Given the description of an element on the screen output the (x, y) to click on. 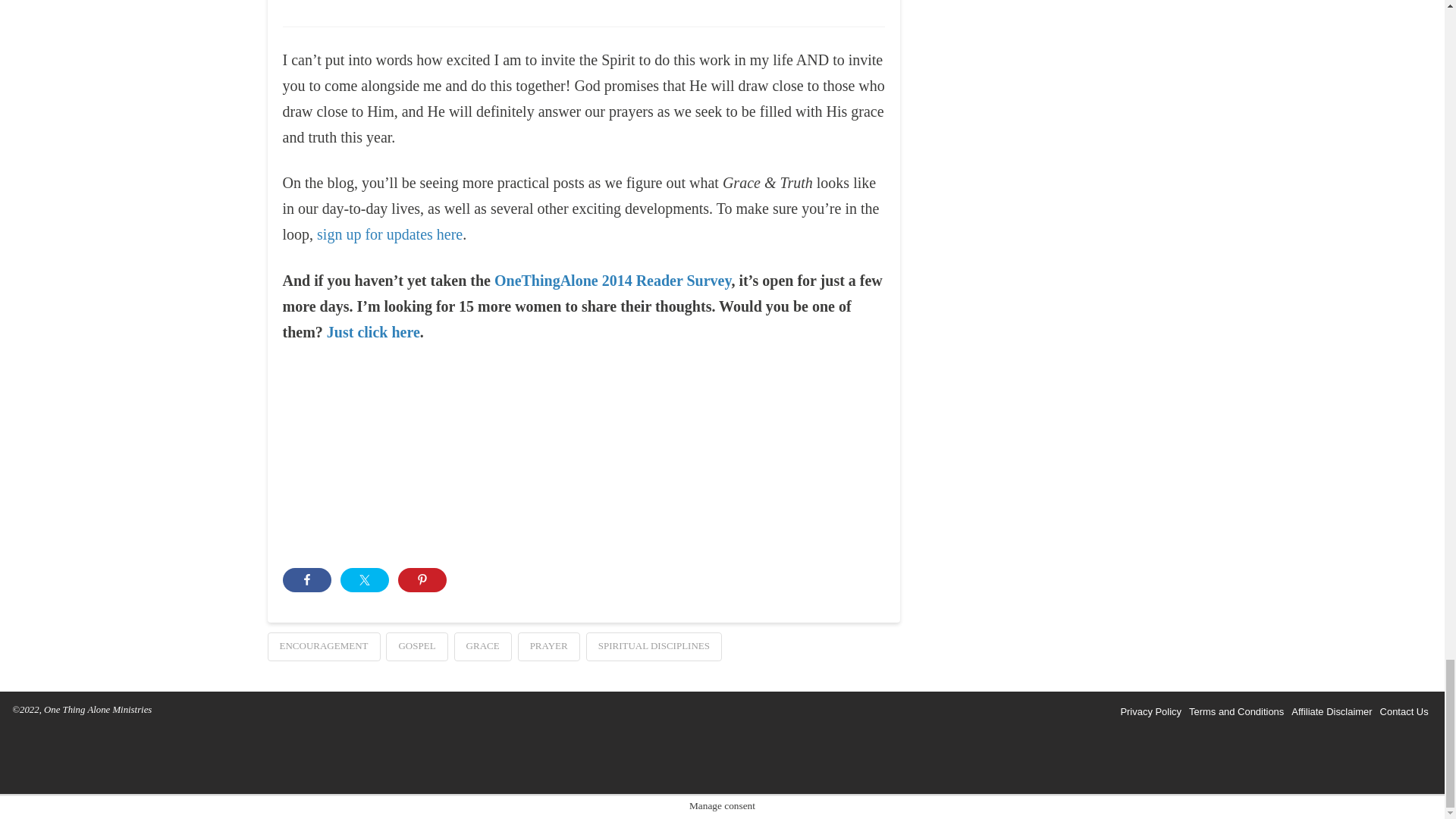
ENCOURAGEMENT (323, 646)
GOSPEL (415, 646)
Affiliate Disclaimer (1331, 712)
sign up for updates here (390, 234)
Just click here (373, 331)
Contact Us (1403, 712)
GRACE (483, 646)
Share on Pinterest (421, 580)
PRAYER (548, 646)
Terms and Conditions (1236, 712)
Share on Twitter (363, 580)
SPIRITUAL DISCIPLINES (654, 646)
Privacy Policy (1150, 712)
Share on Facebook (306, 580)
OneThingAlone 2014 Reader Survey (612, 280)
